Given the description of an element on the screen output the (x, y) to click on. 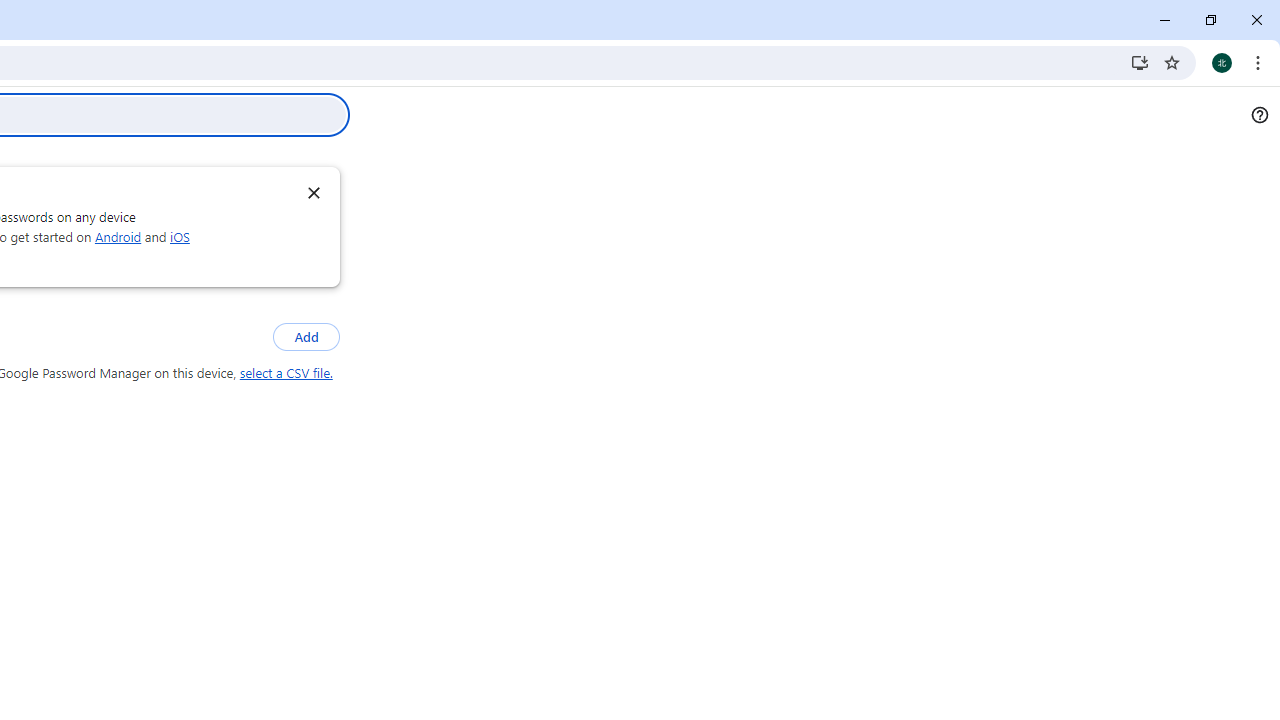
select a CSV file. (285, 373)
Add (306, 337)
Install Google Password Manager (1139, 62)
Android (117, 236)
Dismiss recommendation (313, 192)
iOS (179, 236)
